Given the description of an element on the screen output the (x, y) to click on. 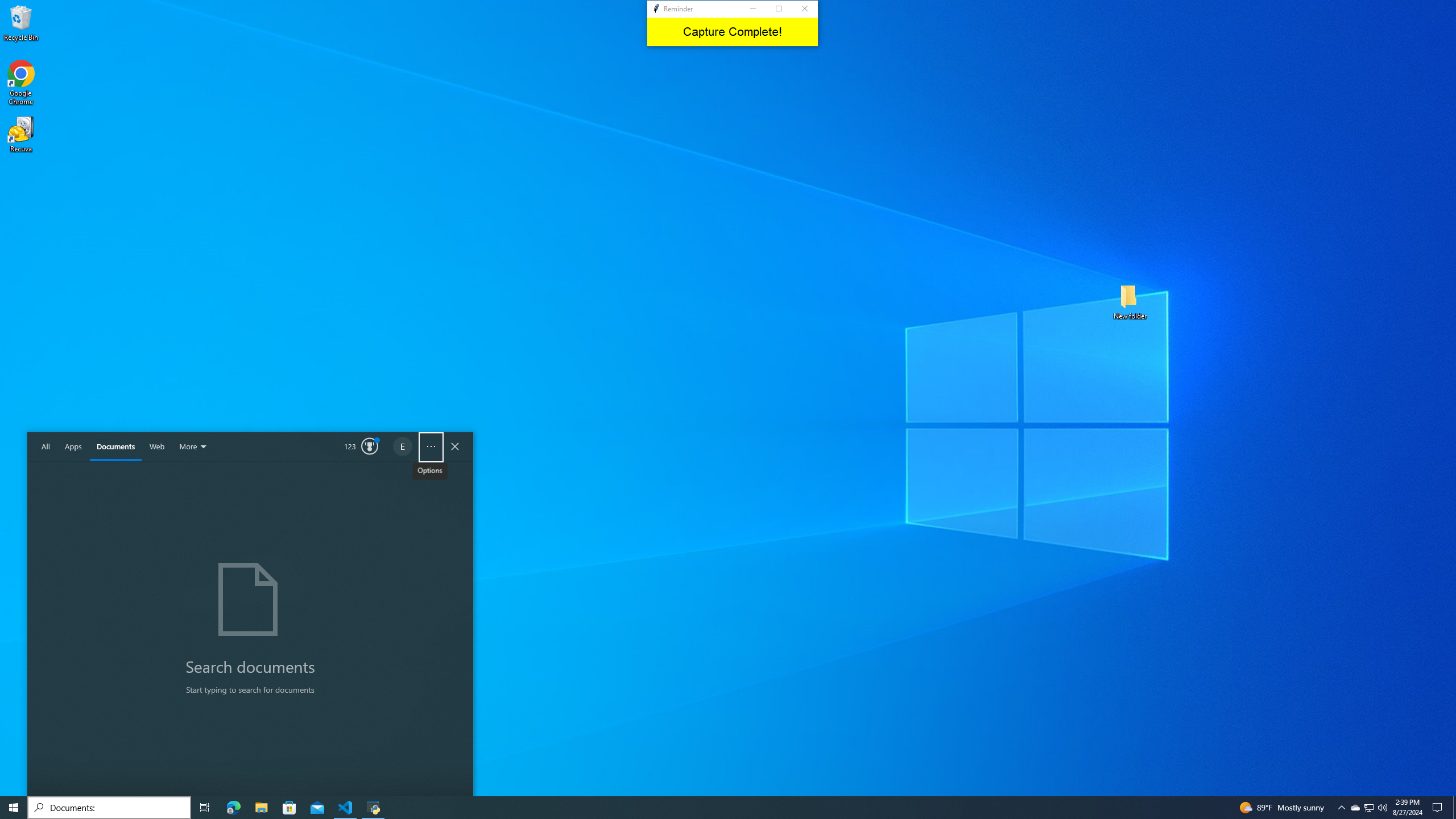
EugeneLedger601@outlook.com (403, 447)
More (194, 447)
